Given the description of an element on the screen output the (x, y) to click on. 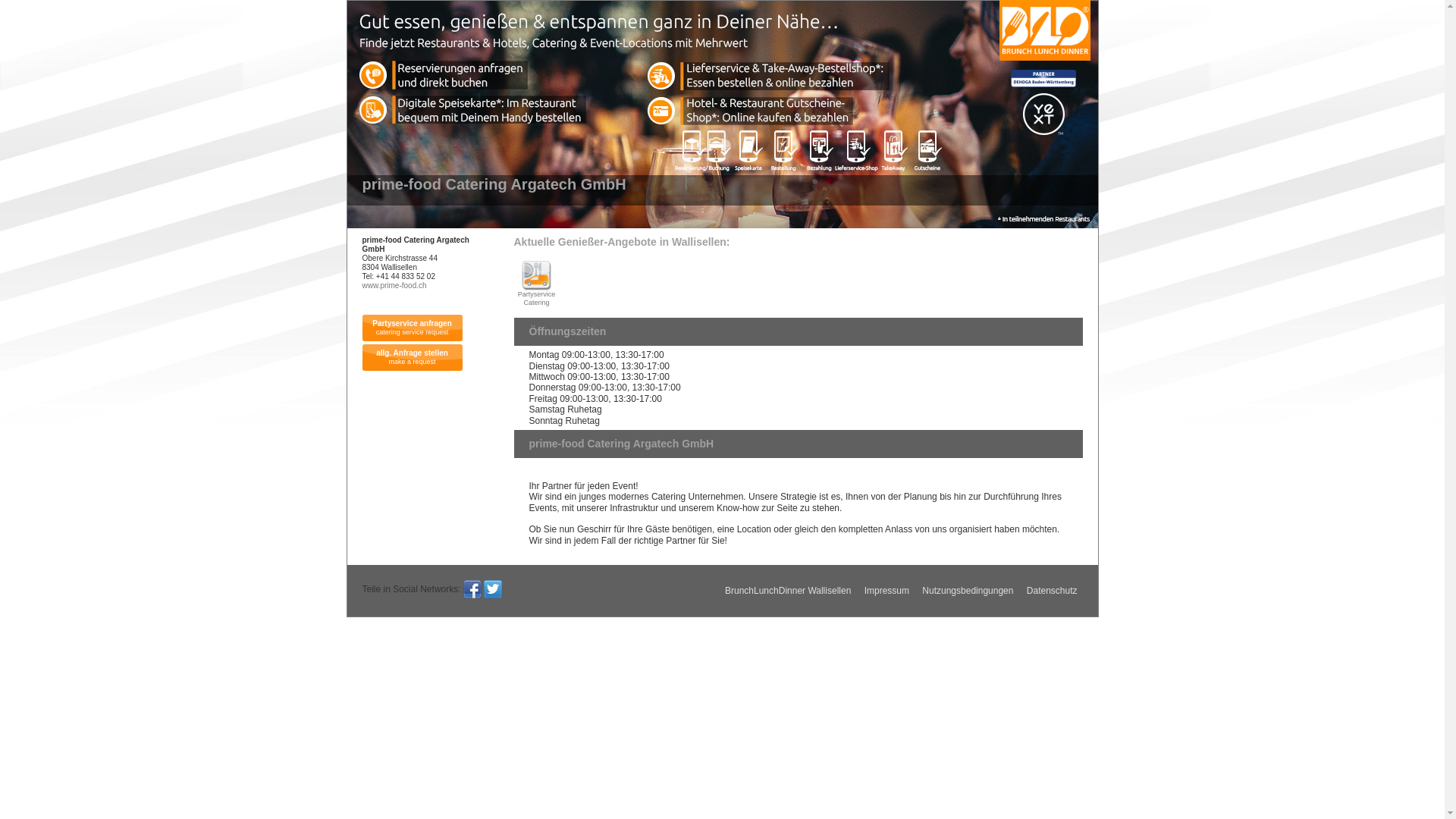
Datenschutz Element type: text (1051, 590)
www.prime-food.ch Element type: text (394, 285)
 Partyservice Catering Element type: text (536, 283)
Impressum Element type: text (886, 590)
auf Twitter teilen Element type: hover (492, 589)
BrunchLunchDinner Wallisellen Element type: text (787, 590)
auf Facebook teilen Element type: hover (472, 589)
Partyservice anfragen
catering service request Element type: text (412, 327)
Nutzungsbedingungen Element type: text (967, 590)
allg. Anfrage stellen
make a request Element type: text (412, 357)
